Given the description of an element on the screen output the (x, y) to click on. 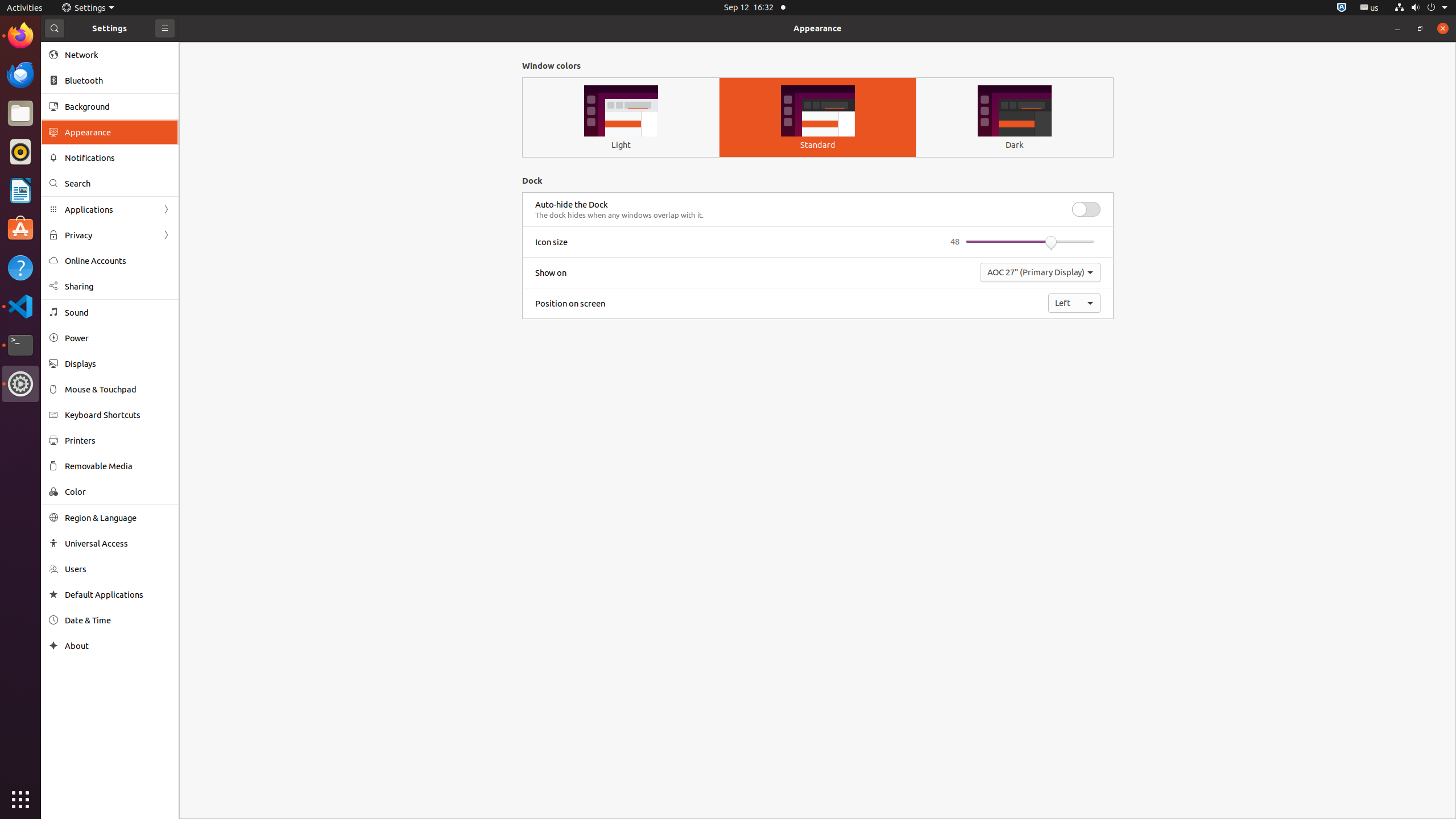
Region & Language Element type: label (117, 517)
Keyboard Shortcuts Element type: label (117, 414)
Power Element type: label (117, 337)
Left Element type: combo-box (1074, 302)
